Given the description of an element on the screen output the (x, y) to click on. 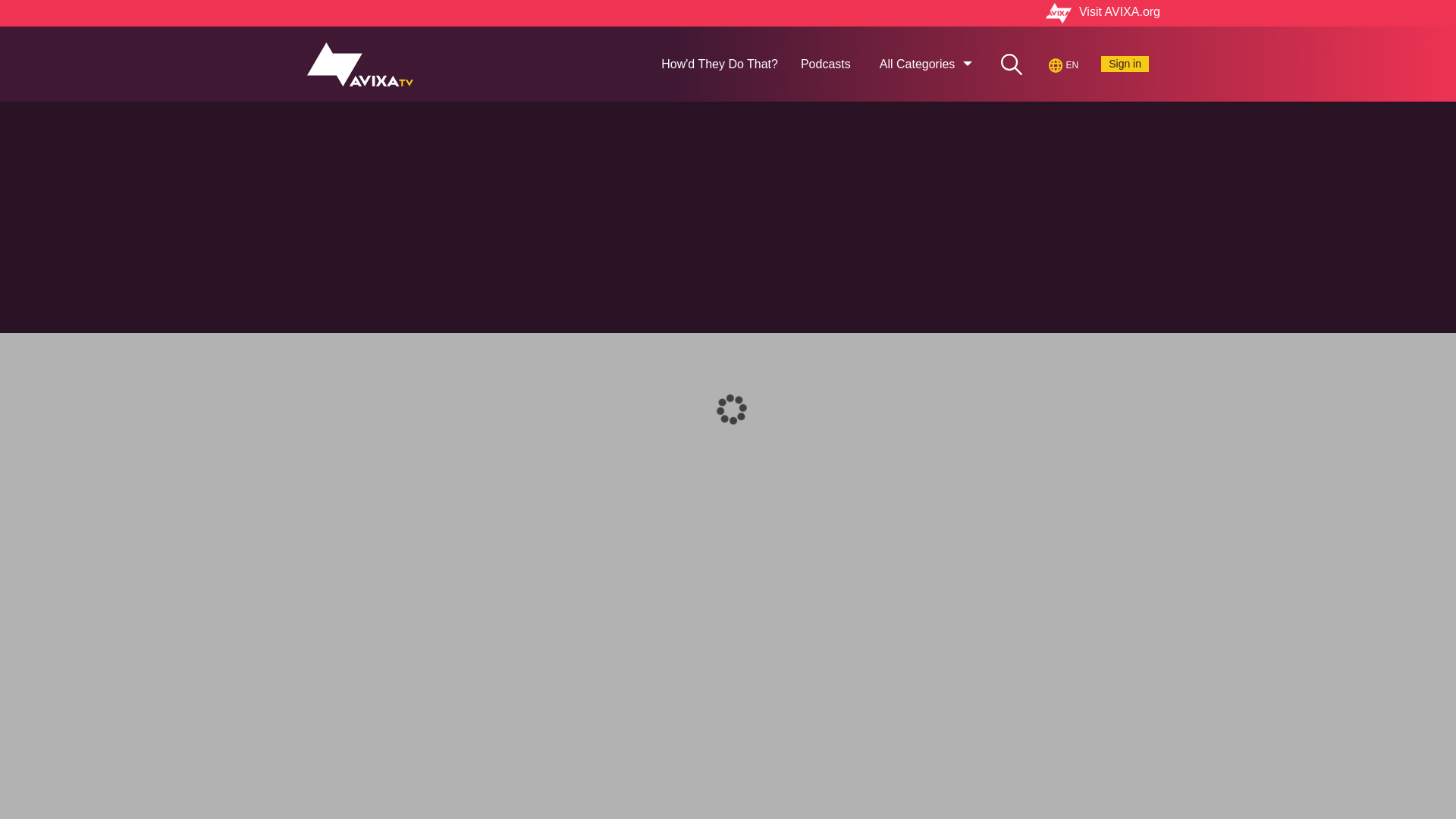
Visit AVIXA.org (727, 13)
All Categories (925, 64)
Podcasts (825, 64)
How'd They Do That? (719, 64)
Sign in (1124, 62)
